Given the description of an element on the screen output the (x, y) to click on. 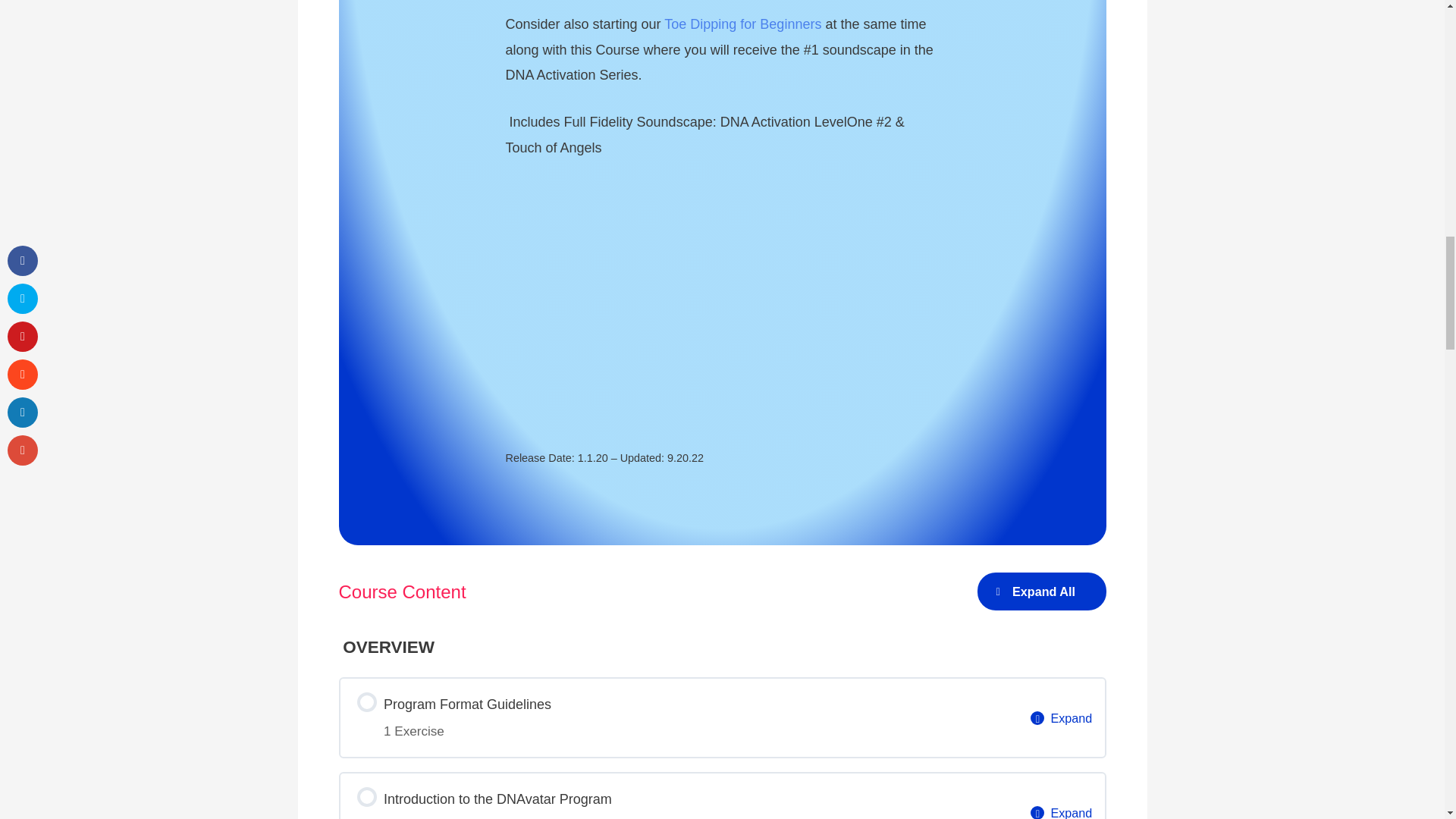
Toe Dipping for Beginners (678, 717)
